Given the description of an element on the screen output the (x, y) to click on. 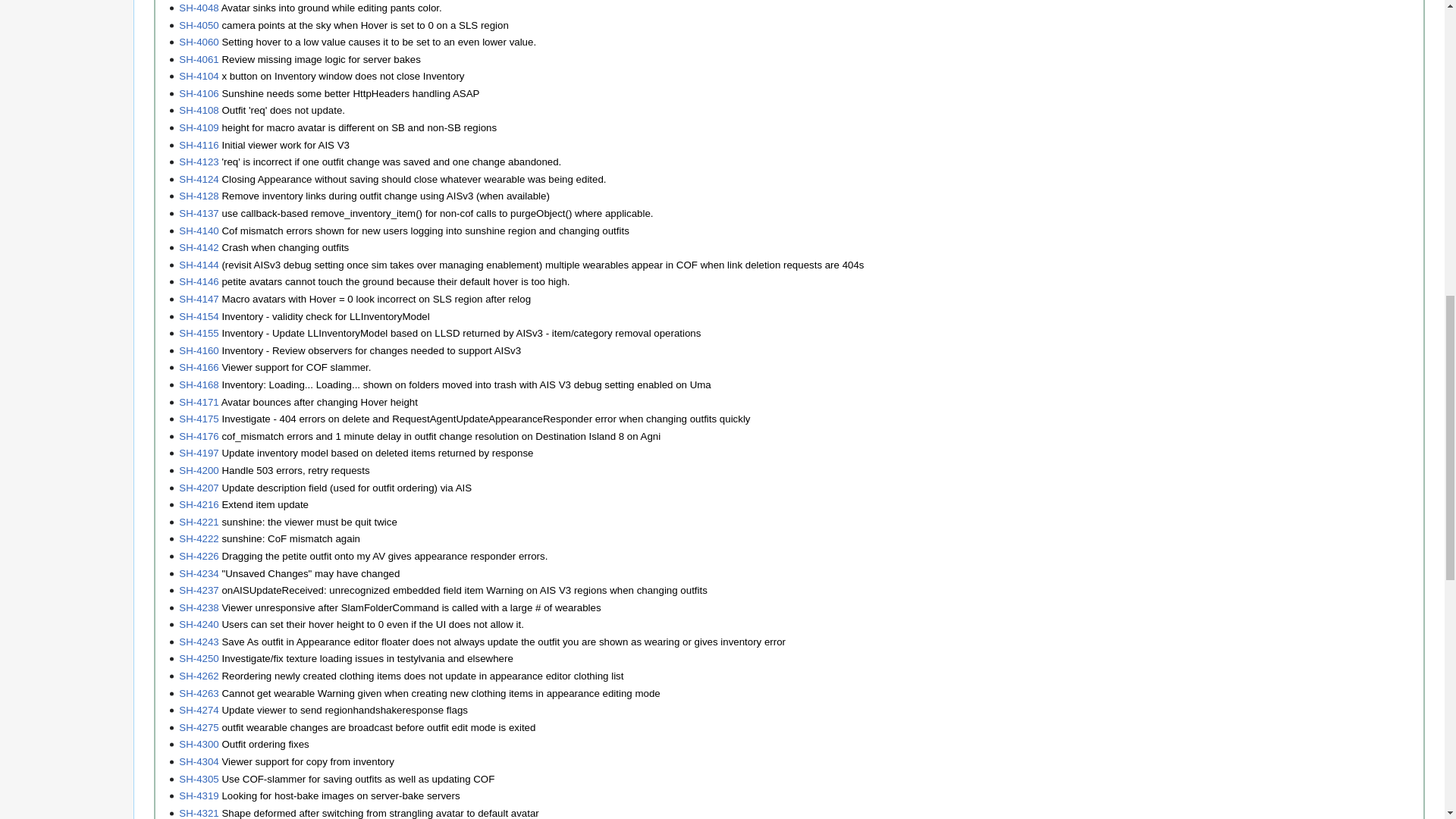
SH-4124 (198, 179)
SH-4104 (198, 75)
SH-4123 (198, 161)
SH-4061 (198, 59)
SH-4048 (198, 7)
SH-4060 (198, 41)
SH-4050 (198, 25)
SH-4116 (198, 144)
SH-4106 (198, 93)
SH-4108 (198, 110)
SH-4128 (198, 195)
SH-4109 (198, 127)
